Given the description of an element on the screen output the (x, y) to click on. 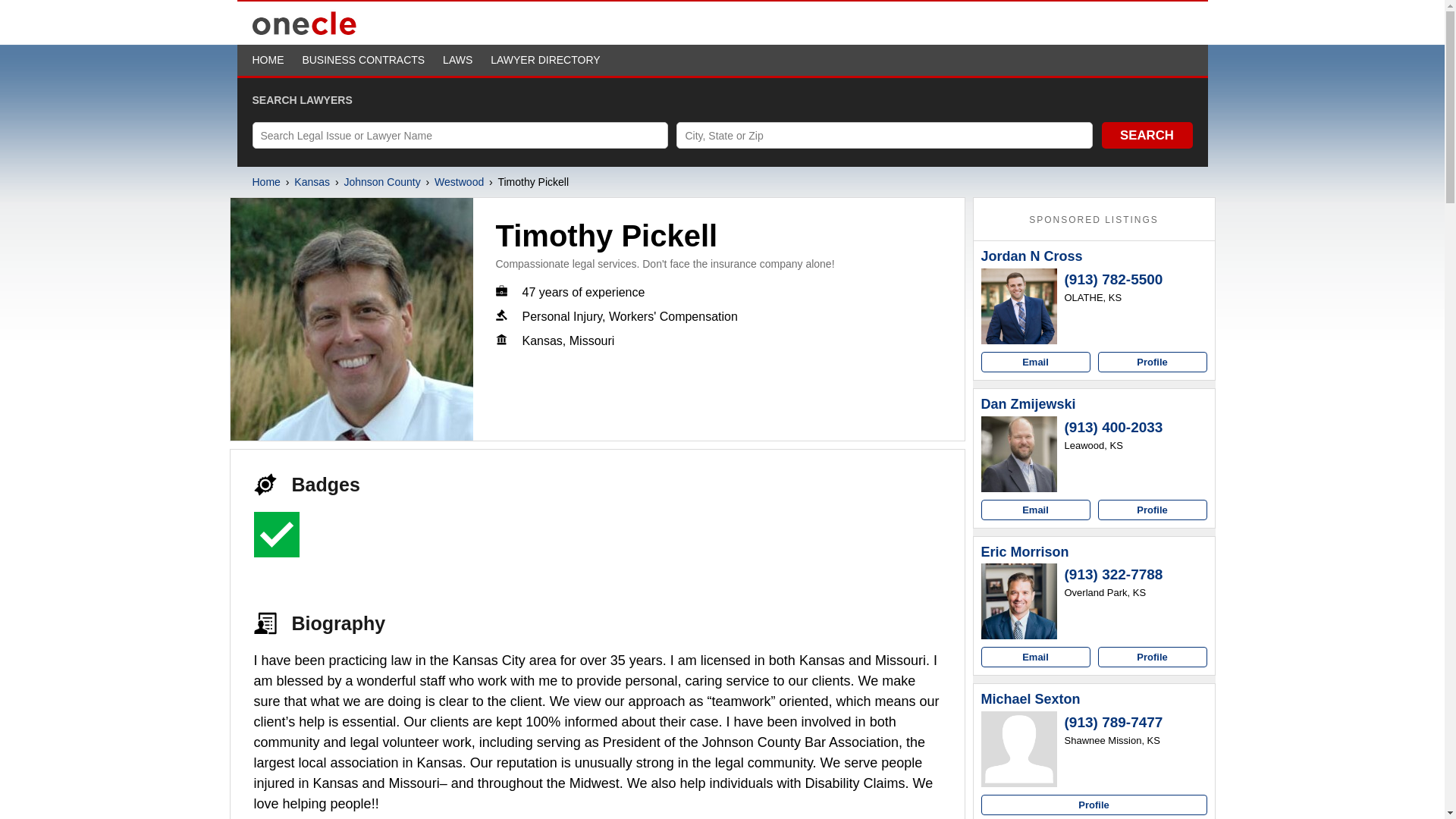
LAWS (456, 60)
Email (1035, 362)
Email (1035, 657)
Kansas (312, 181)
City, State or Zip (885, 135)
SPONSORED LISTINGS (1093, 219)
Michael Sexton (1030, 699)
Email (1035, 509)
SEARCH (1146, 135)
Profile (1152, 657)
